Given the description of an element on the screen output the (x, y) to click on. 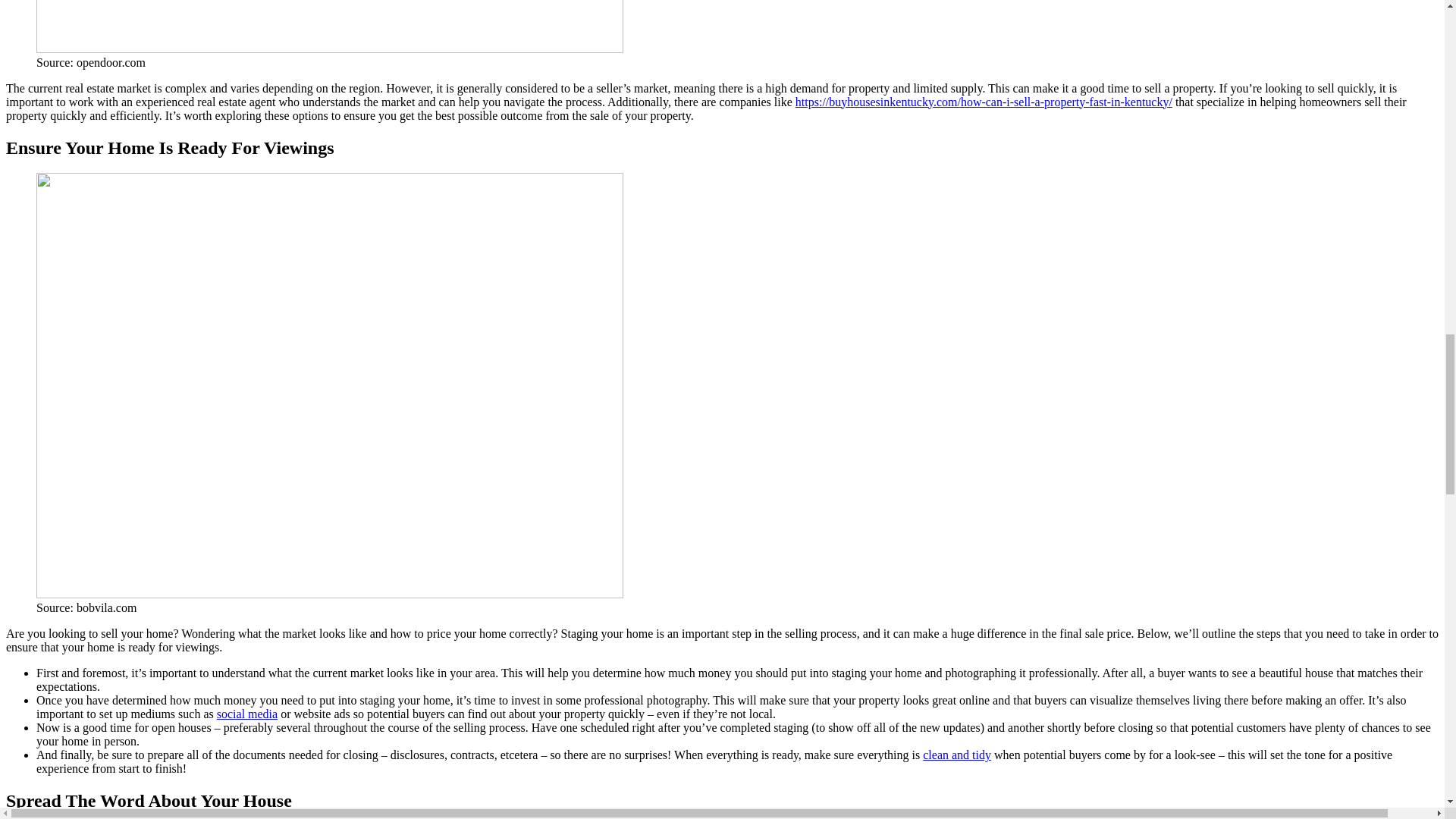
social media (247, 713)
clean and tidy (957, 754)
